Given the description of an element on the screen output the (x, y) to click on. 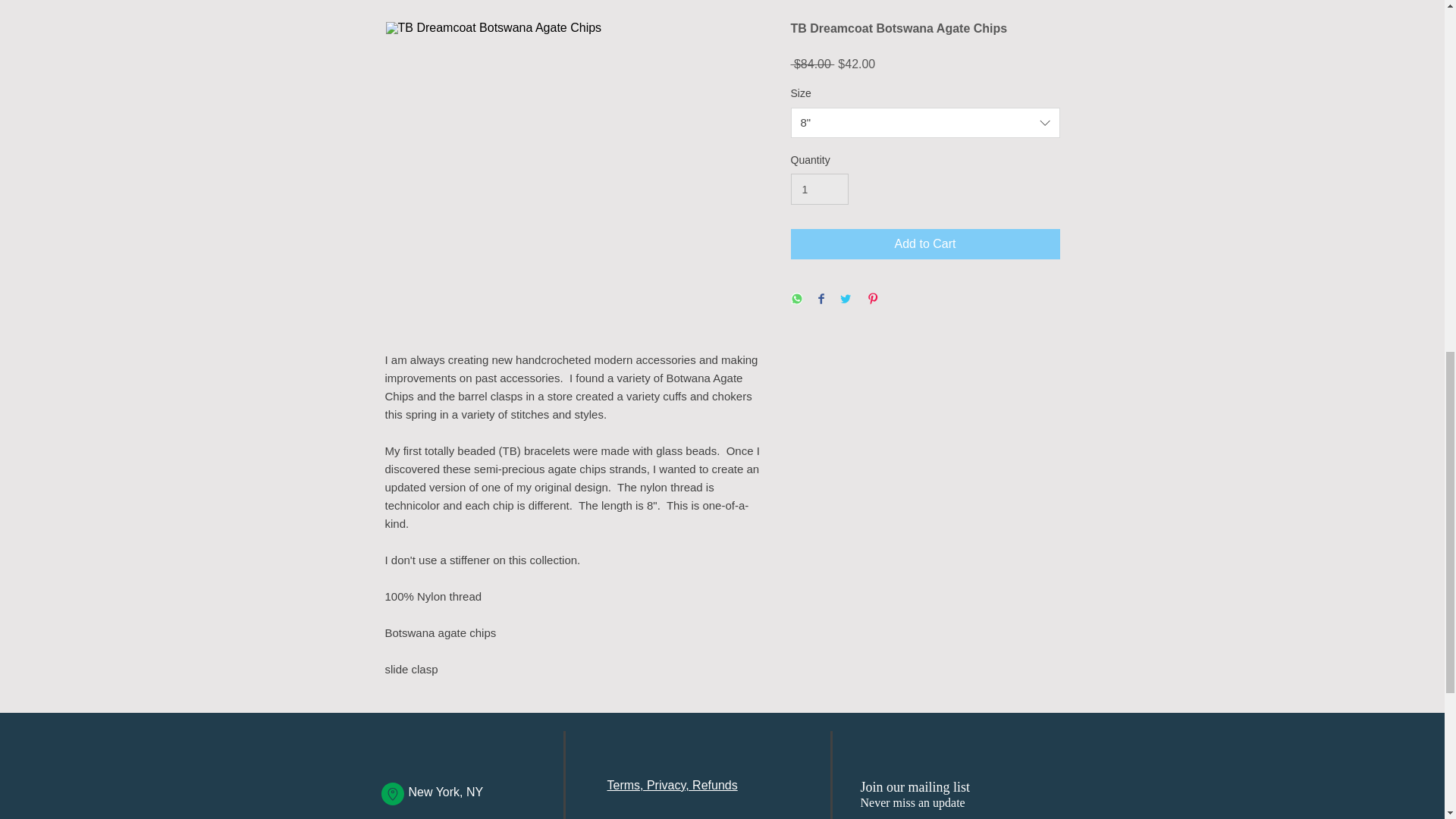
1 (818, 188)
8" (924, 122)
Terms, Privacy, Refunds (671, 784)
Add to Cart (924, 244)
